Given the description of an element on the screen output the (x, y) to click on. 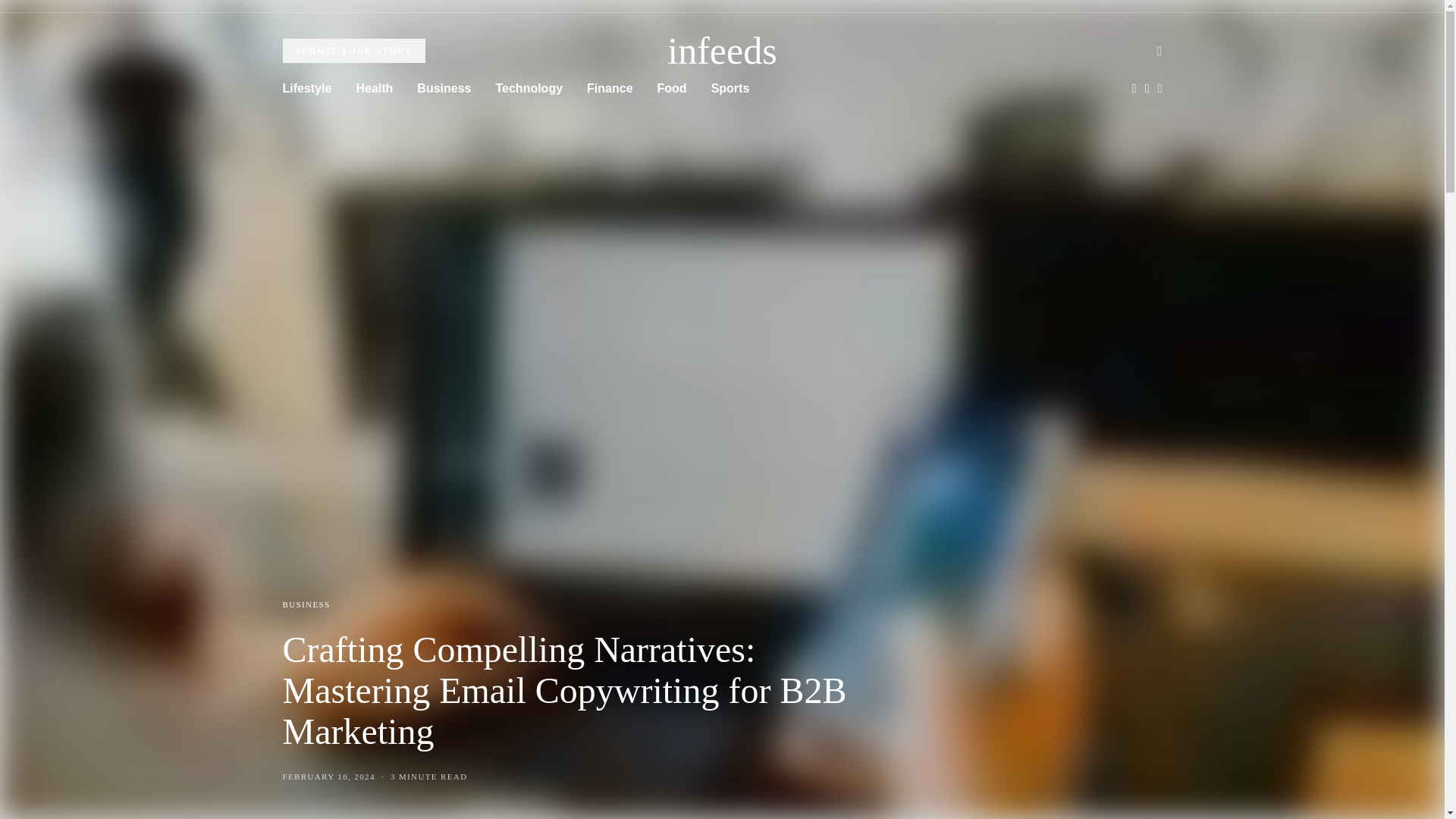
FEBRUARY 16, 2024 (328, 776)
BUSINESS (306, 604)
SUBMIT YOUR STORY (353, 50)
infeeds (721, 50)
